Given the description of an element on the screen output the (x, y) to click on. 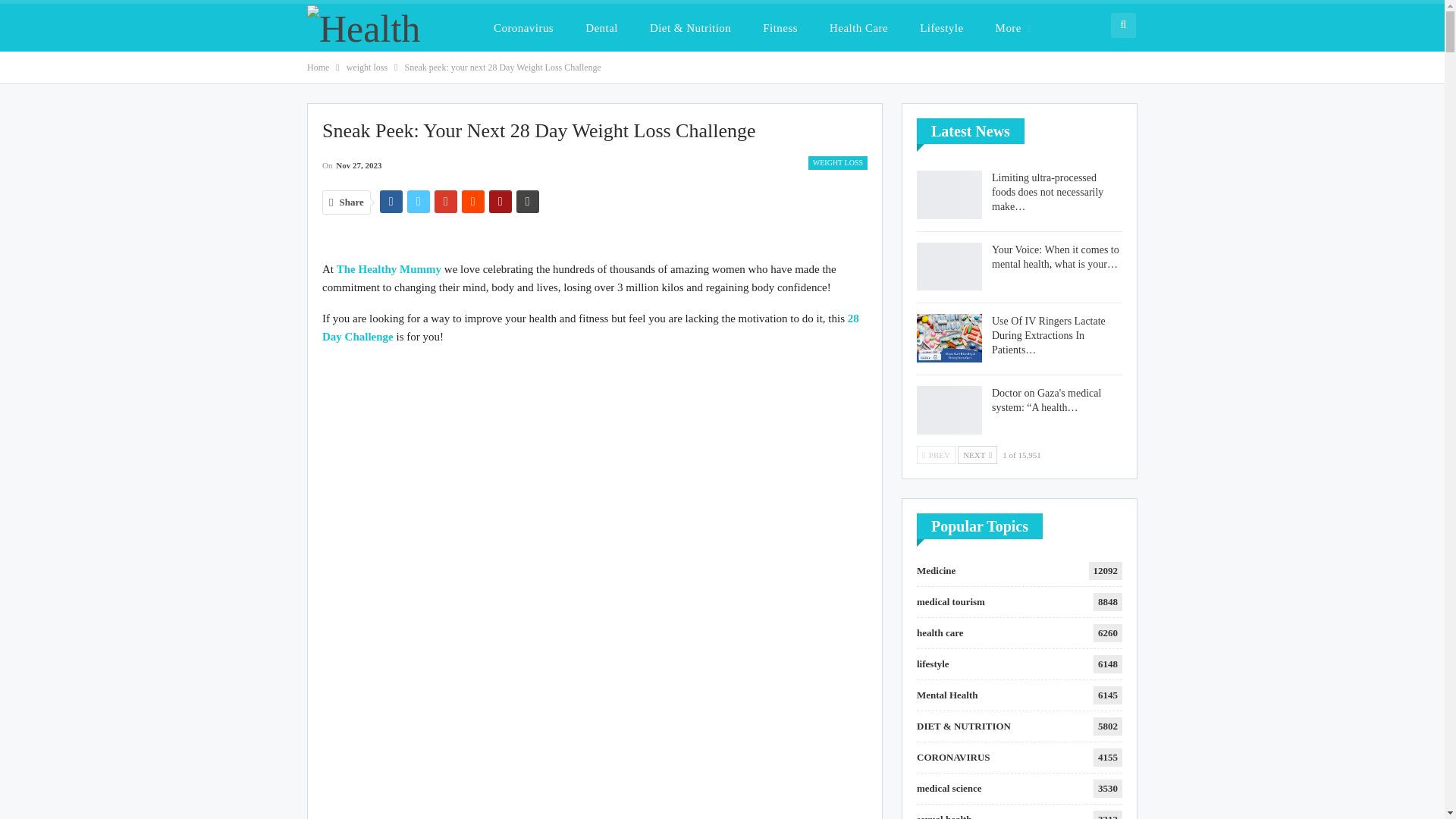
28 Day Challenge (590, 327)
Health Care (857, 27)
The Healthy Mummy (388, 268)
More (1013, 27)
Fitness (780, 27)
weight loss (366, 67)
Coronavirus (523, 27)
WEIGHT LOSS (837, 162)
